Given the description of an element on the screen output the (x, y) to click on. 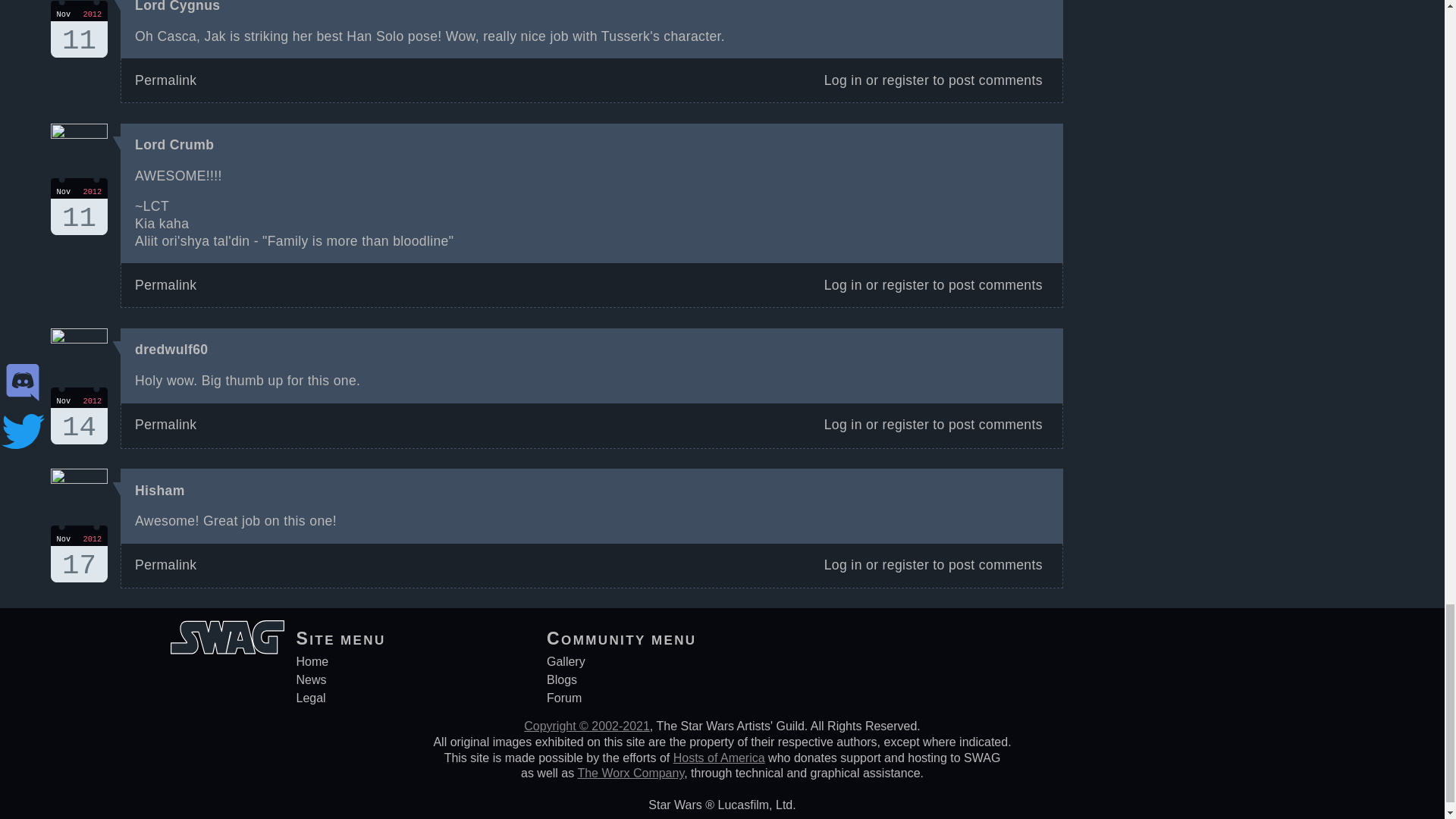
View user profile. (78, 415)
View user profile. (78, 28)
View user profile. (159, 490)
View user profile. (78, 206)
